Given the description of an element on the screen output the (x, y) to click on. 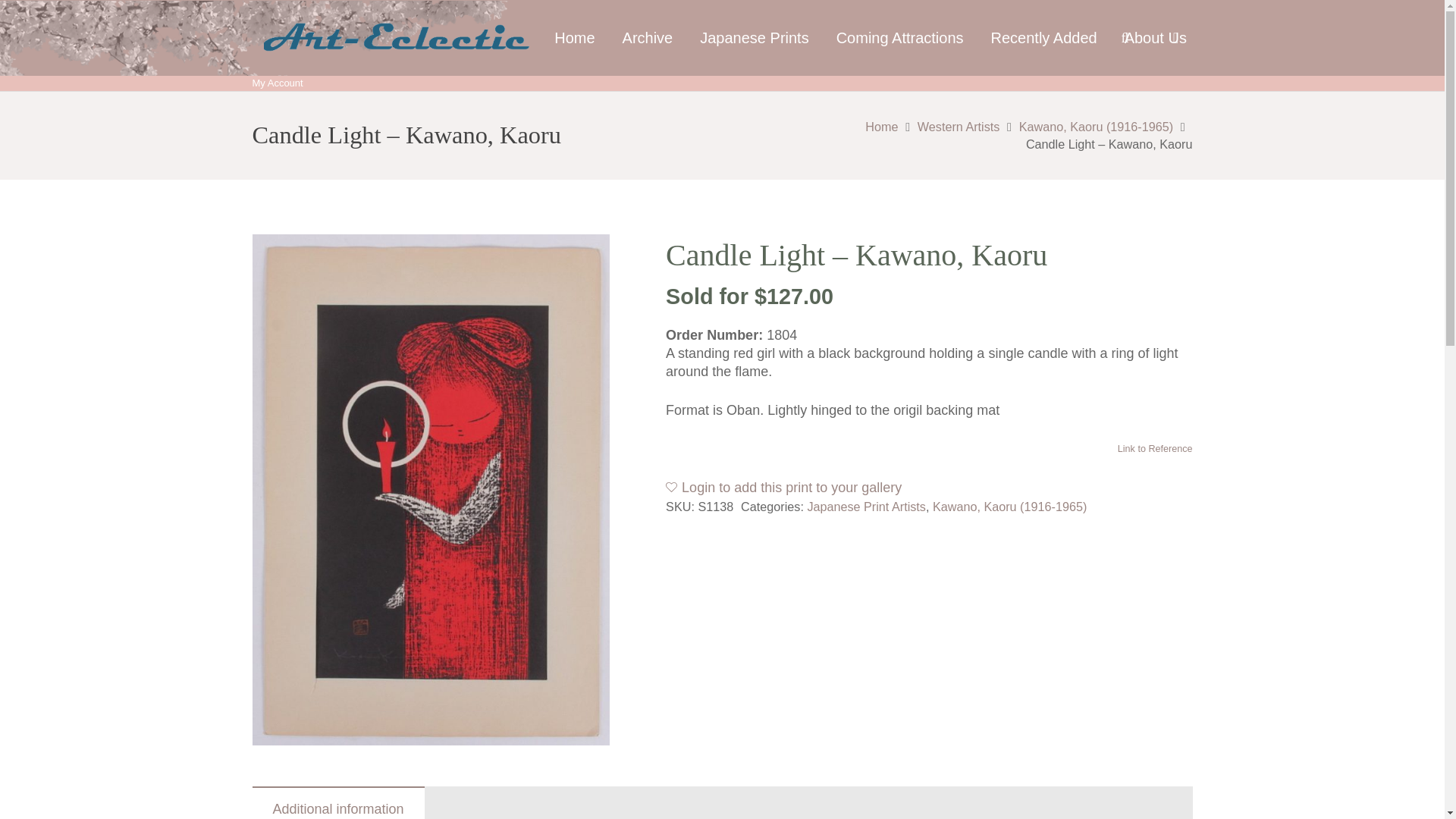
Japanese Prints (753, 38)
Archive (647, 38)
Home (574, 38)
